Given the description of an element on the screen output the (x, y) to click on. 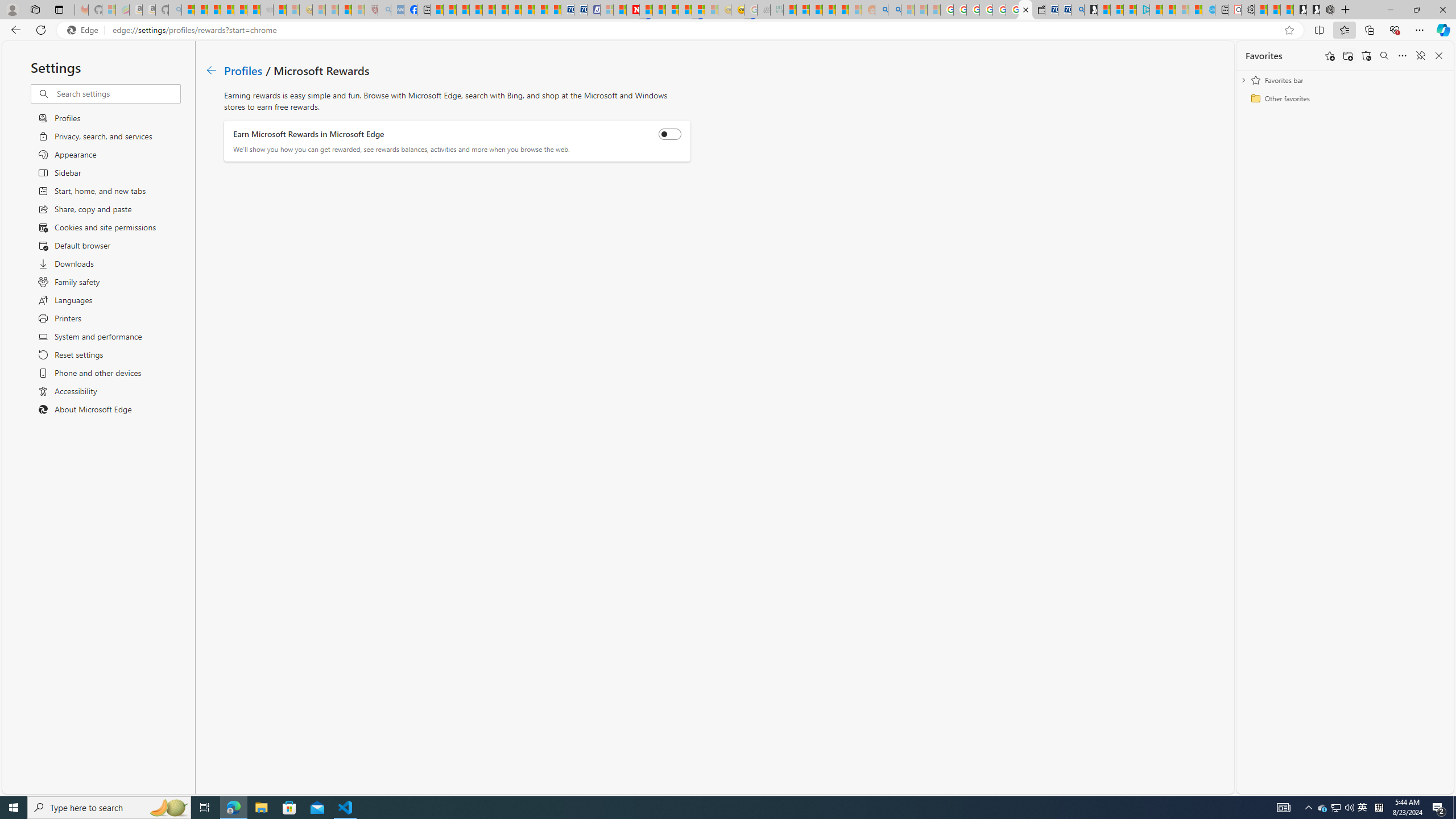
World - MSN (462, 9)
Wallet (1037, 9)
Student Loan Update: Forgiveness Program Ends This Month (842, 9)
